Given the description of an element on the screen output the (x, y) to click on. 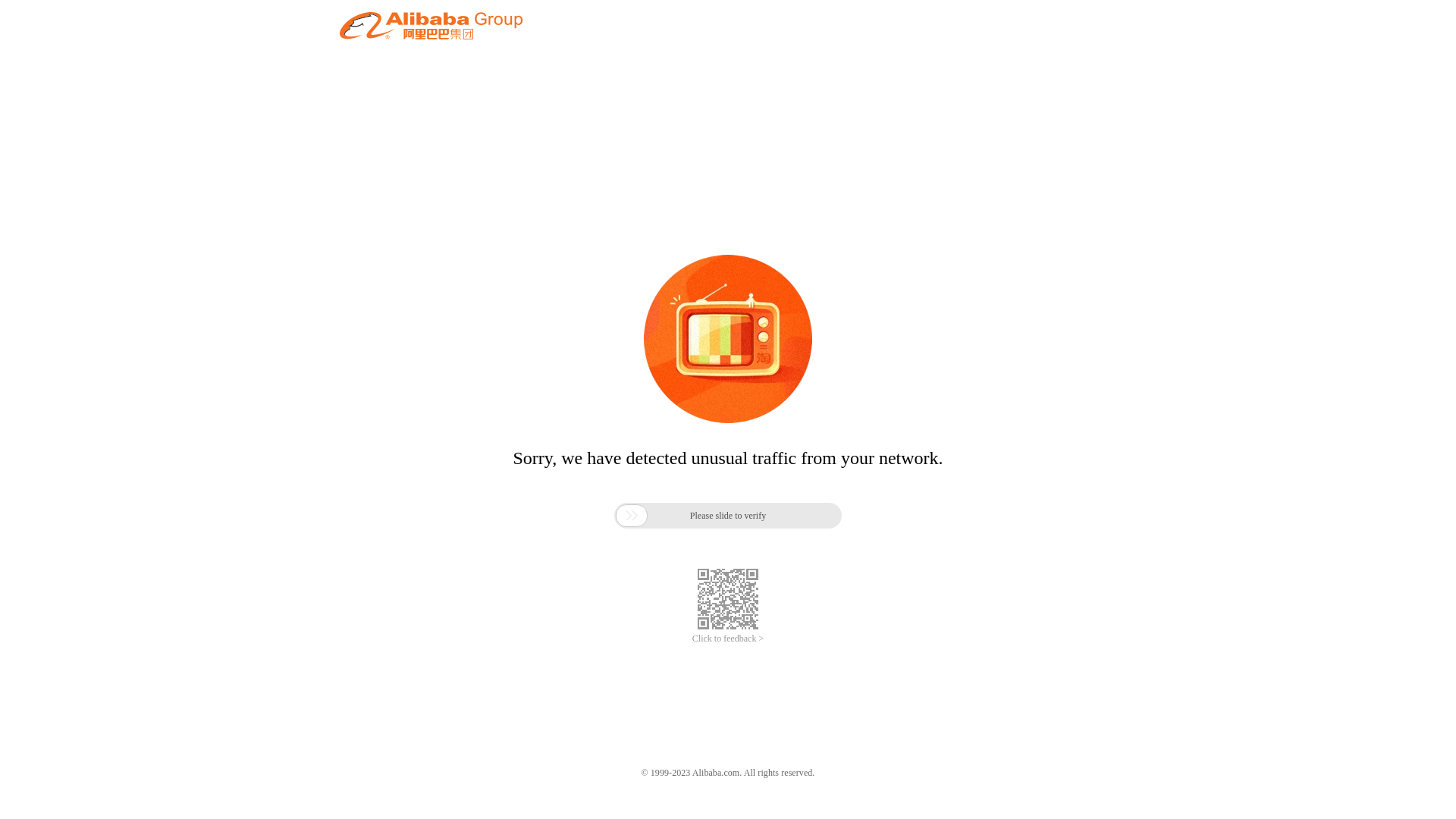
Click to feedback > Element type: text (727, 638)
